Given the description of an element on the screen output the (x, y) to click on. 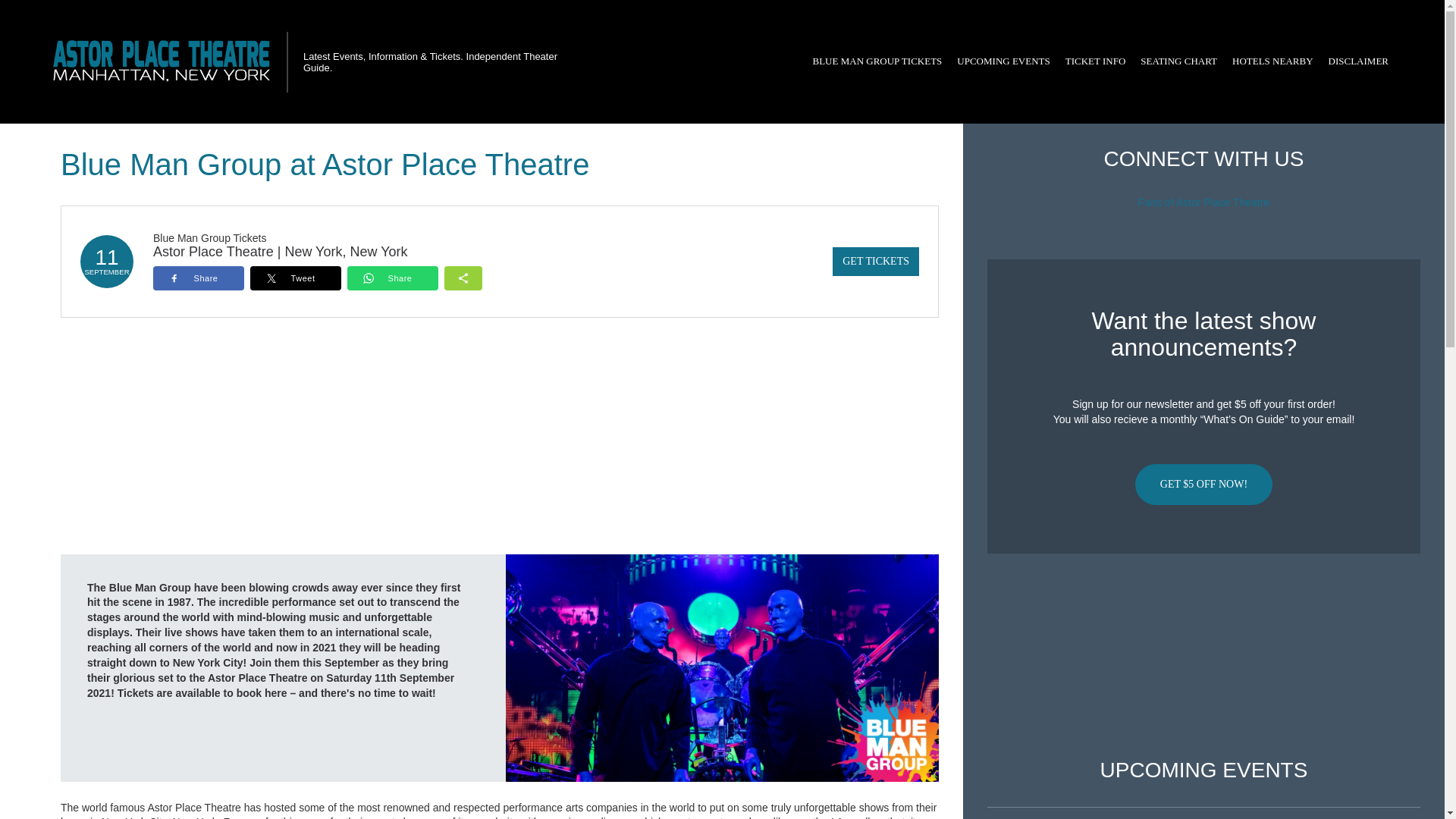
Blue Man Group Tickets (209, 237)
DISCLAIMER (1358, 61)
Fans of Astor Place Theatre (1203, 202)
TICKET INFO (1096, 61)
Advertisement (1204, 655)
HOTELS NEARBY (1272, 61)
Blue Man Group at Astor Place Theatre (722, 667)
UPCOMING EVENTS (1003, 61)
BLUE MAN GROUP TICKETS (877, 61)
SEATING CHART (1178, 61)
GET TICKETS (875, 261)
